Given the description of an element on the screen output the (x, y) to click on. 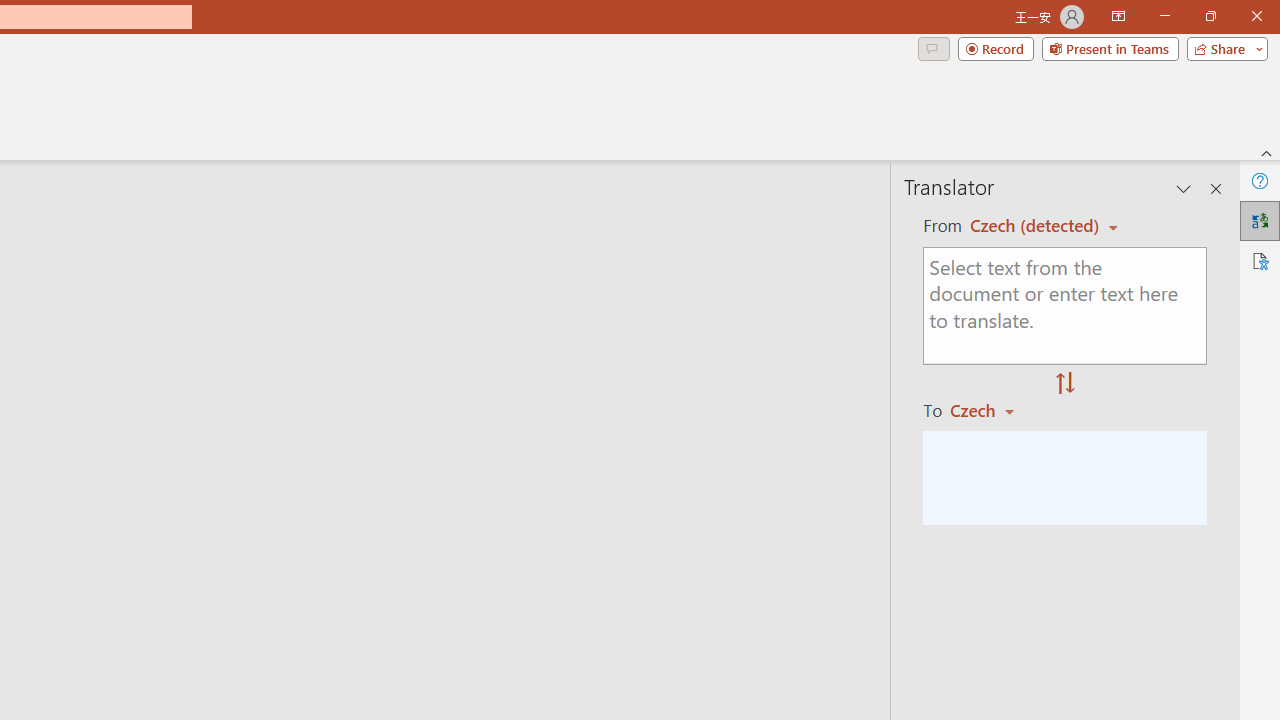
Czech (991, 409)
Czech (detected) (1037, 225)
Swap "from" and "to" languages. (1065, 383)
